Given the description of an element on the screen output the (x, y) to click on. 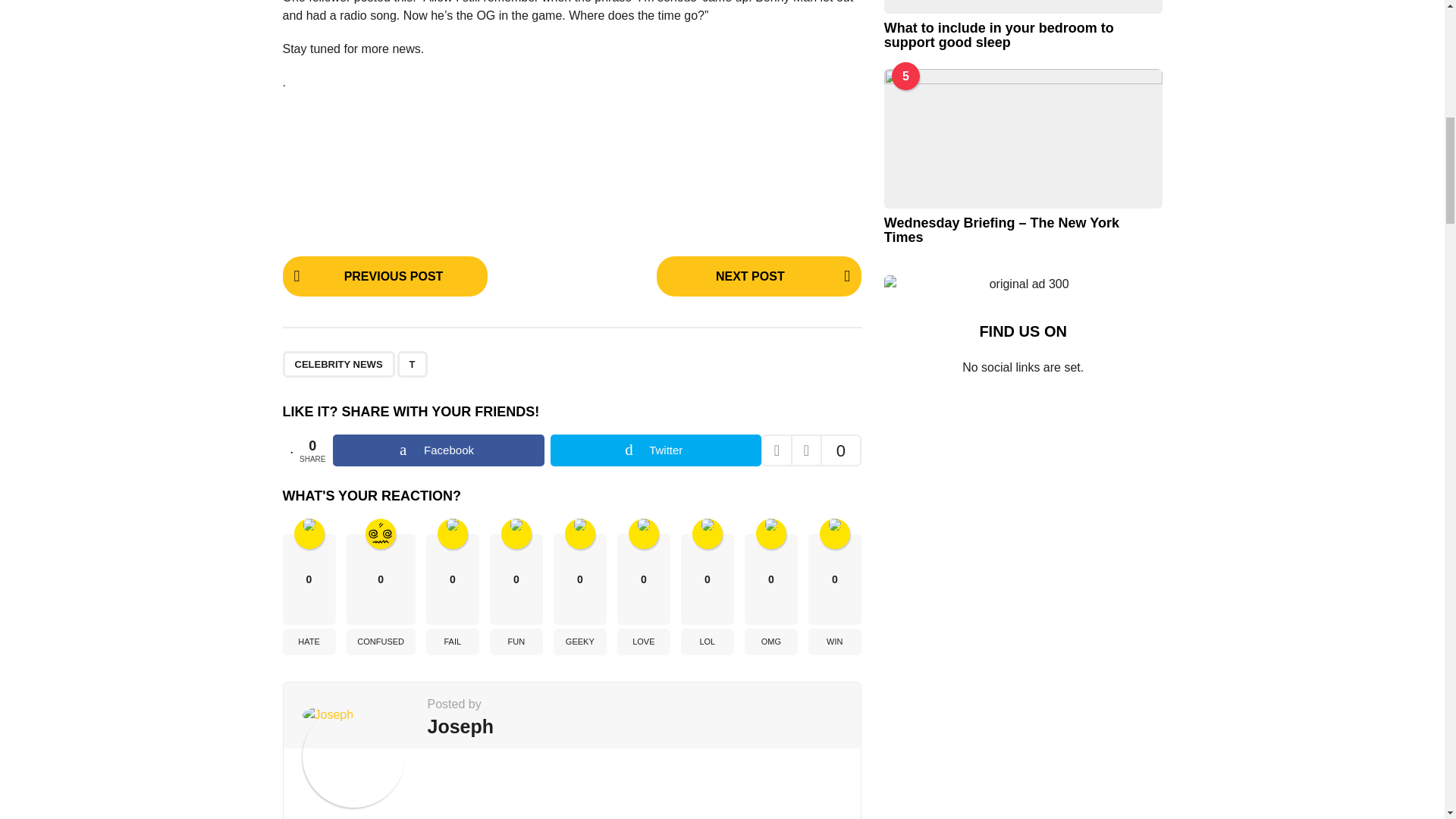
Facebook (438, 450)
NEXT POST (758, 276)
PREVIOUS POST (384, 276)
Share on Twitter (655, 450)
CELEBRITY NEWS (338, 364)
T (412, 364)
Share on Facebook (438, 450)
